Given the description of an element on the screen output the (x, y) to click on. 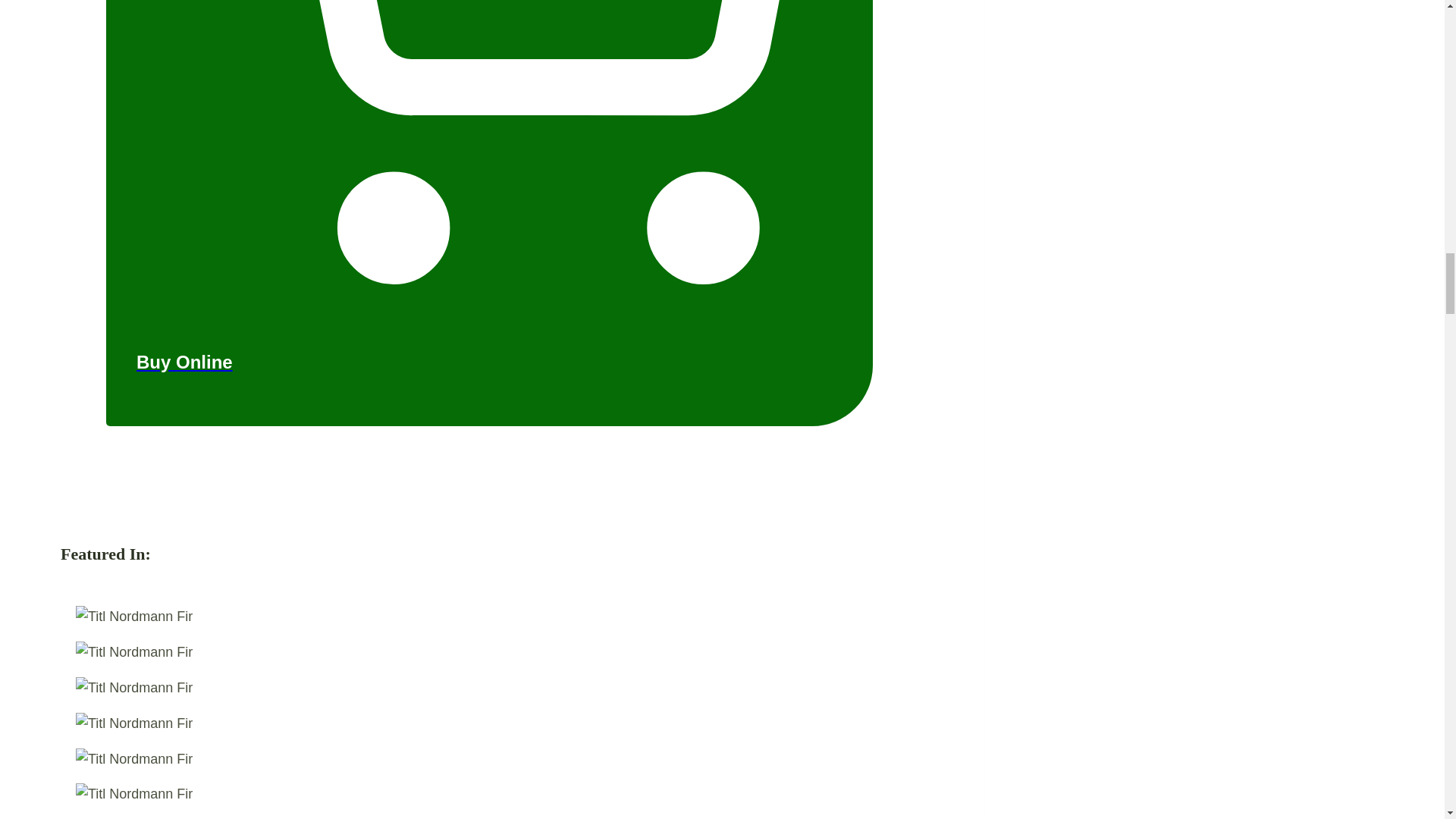
Nordmann Fir 5 (133, 723)
Nordmann Fir 3 (133, 652)
Nordmann Fir 4 (133, 688)
Nordmann Fir 7 (133, 793)
Nordmann Fir 2 (133, 617)
Nordmann Fir 6 (133, 759)
